Given the description of an element on the screen output the (x, y) to click on. 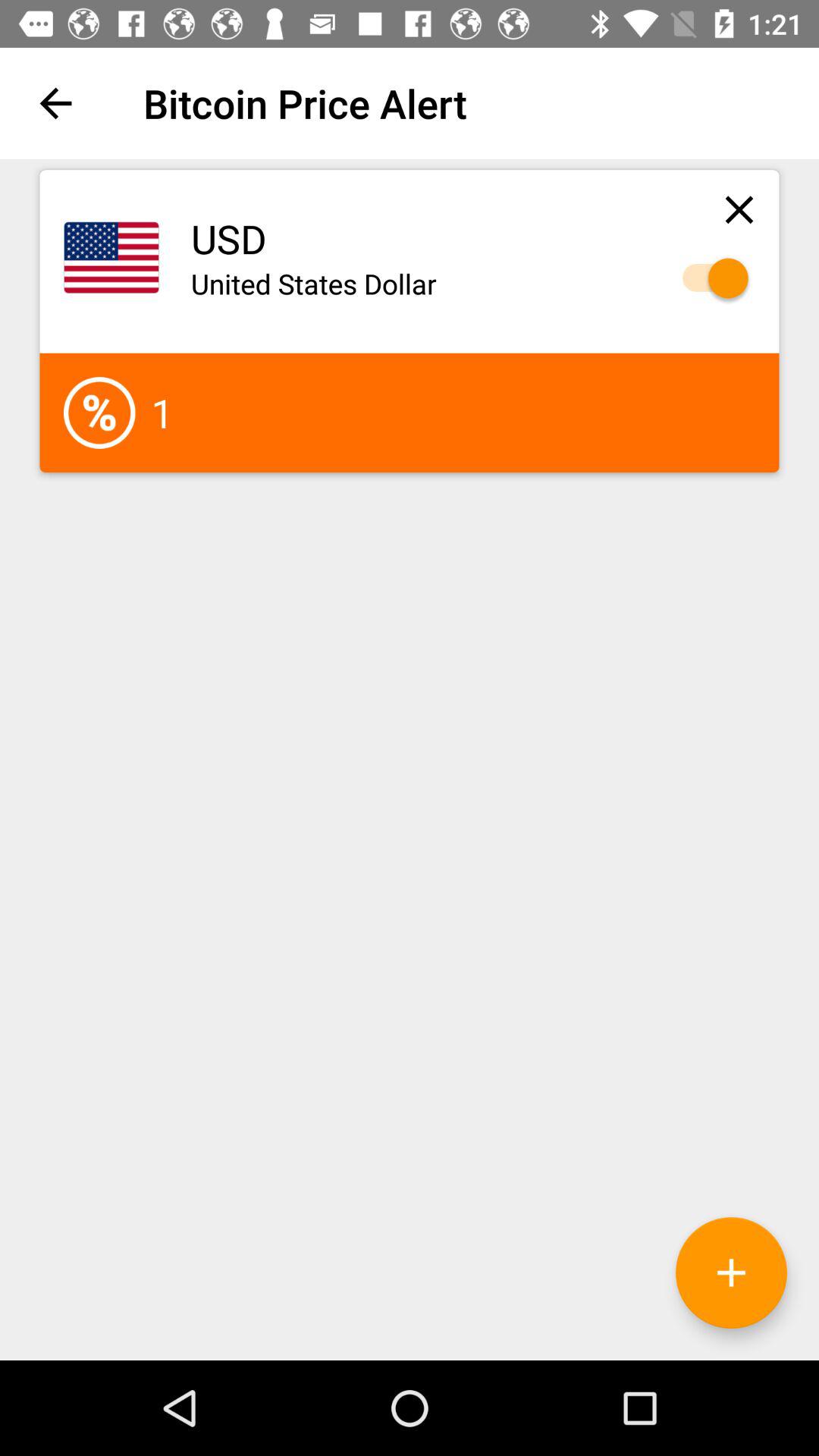
select item to the right of the usd icon (739, 209)
